Given the description of an element on the screen output the (x, y) to click on. 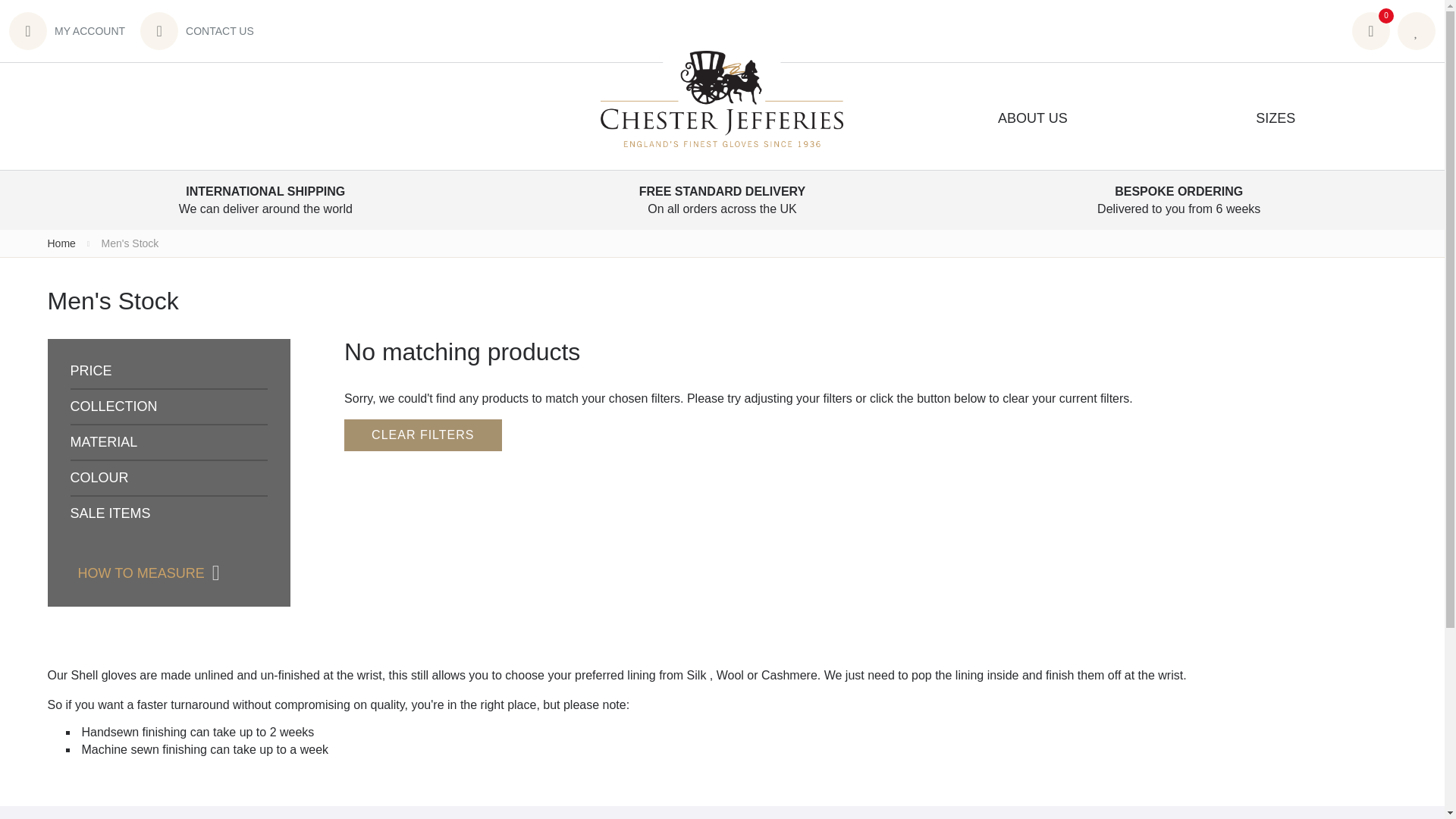
CLEAR FILTERS (421, 435)
GLOVES WE LOVE (1416, 30)
0 (1371, 30)
Home (60, 243)
ABOUT US (1032, 118)
CONTACT US (200, 30)
MY ACCOUNT (70, 30)
SIZES (1275, 118)
